Given the description of an element on the screen output the (x, y) to click on. 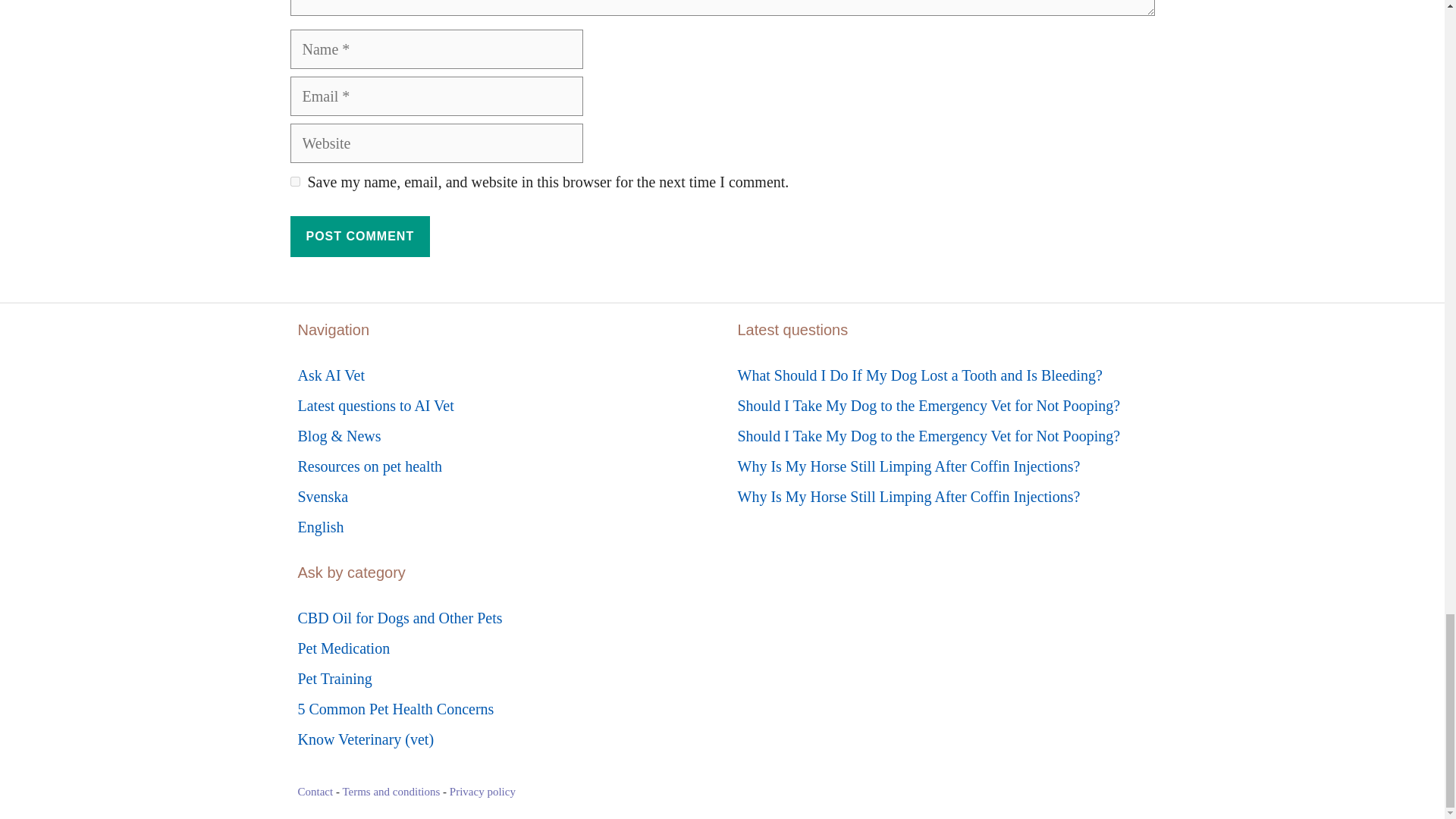
yes (294, 181)
Pet Training (334, 678)
Should I Take My Dog to the Emergency Vet for Not Pooping? (927, 405)
Should I Take My Dog to the Emergency Vet for Not Pooping? (927, 435)
Resources on pet health (369, 466)
Svenska (322, 496)
CBD Oil for Dogs and Other Pets (399, 617)
English (320, 526)
Privacy policy (482, 791)
Pet Medication (343, 647)
5 Common Pet Health Concerns (395, 709)
Ask AI Vet (331, 375)
Terms and conditions (390, 791)
Post Comment (359, 236)
Latest questions to AI Vet (374, 405)
